Given the description of an element on the screen output the (x, y) to click on. 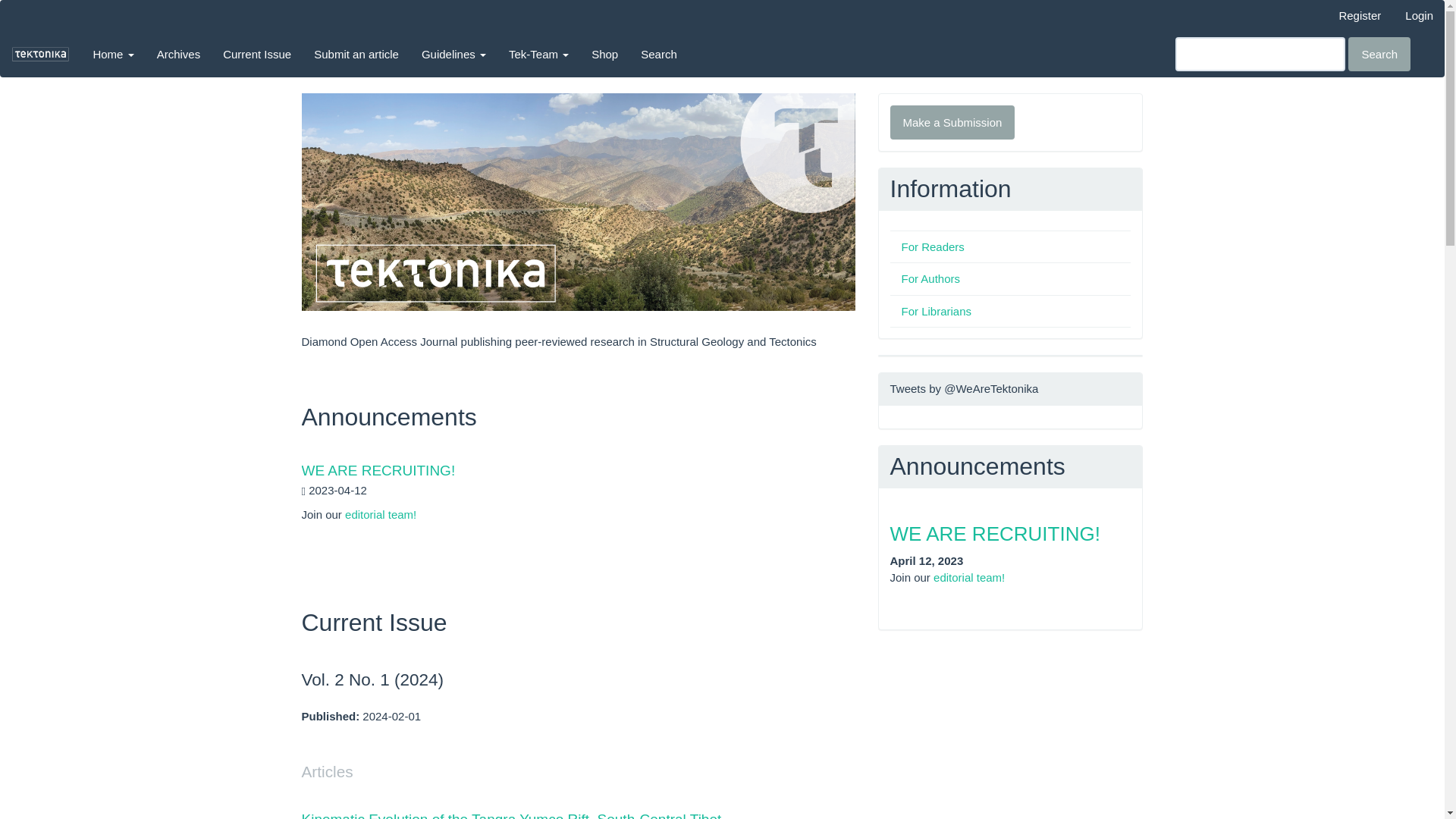
Home (112, 53)
Guidelines (453, 53)
Current Issue (256, 53)
Shop (603, 53)
Register (1358, 15)
Search (658, 53)
Archives (178, 53)
editorial team! (380, 513)
Tek-Team (538, 53)
Search (1379, 53)
WE ARE RECRUITING! (378, 470)
Submit an article (356, 53)
